Given the description of an element on the screen output the (x, y) to click on. 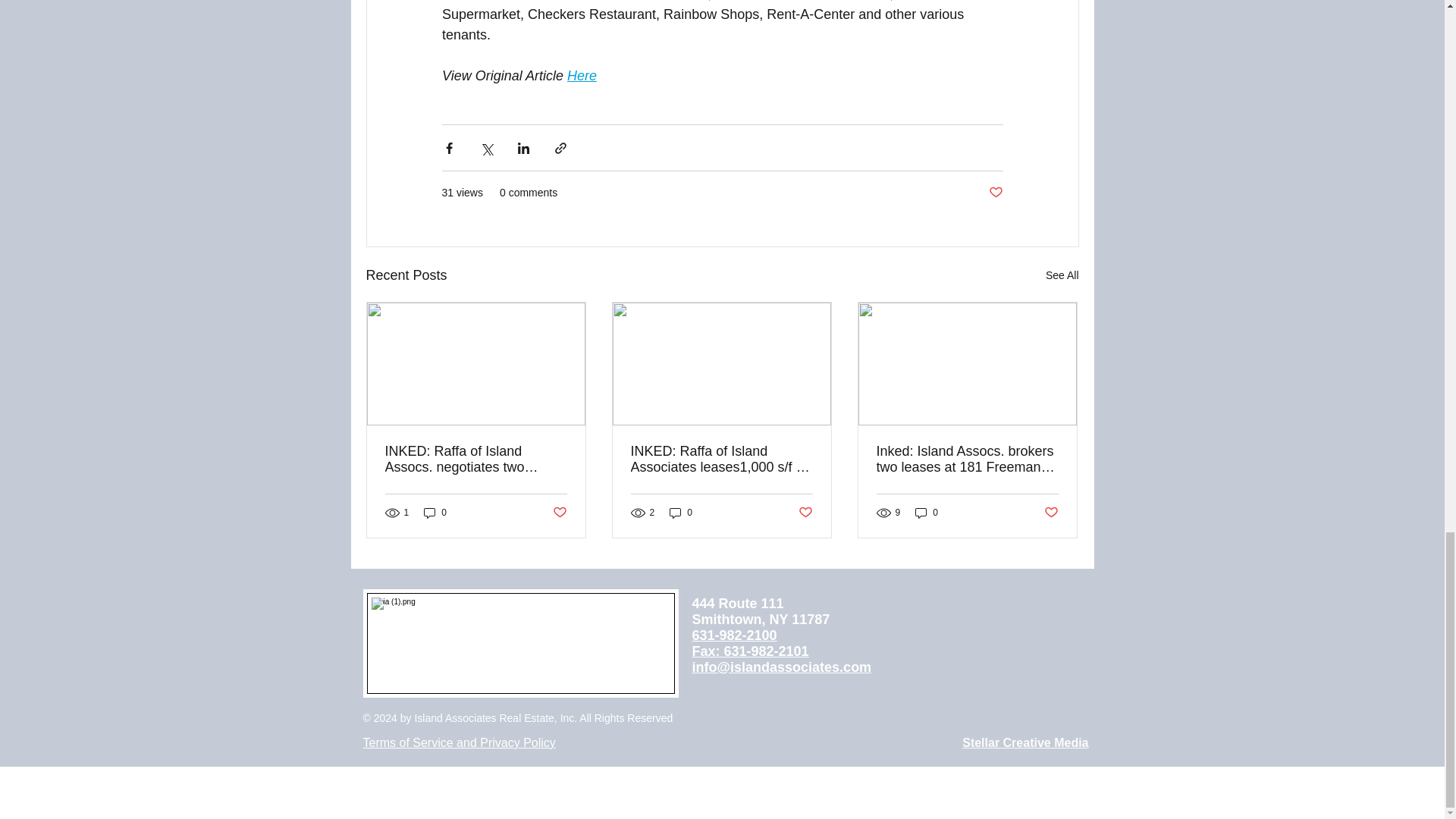
0 (681, 513)
0 (435, 513)
Stellar Creative Media (1024, 742)
Post not marked as liked (1050, 512)
Post not marked as liked (804, 512)
Post not marked as liked (558, 512)
Post not marked as liked (995, 192)
Here (581, 75)
Terms of Service and Privacy Policy (458, 742)
0 (926, 513)
